Given the description of an element on the screen output the (x, y) to click on. 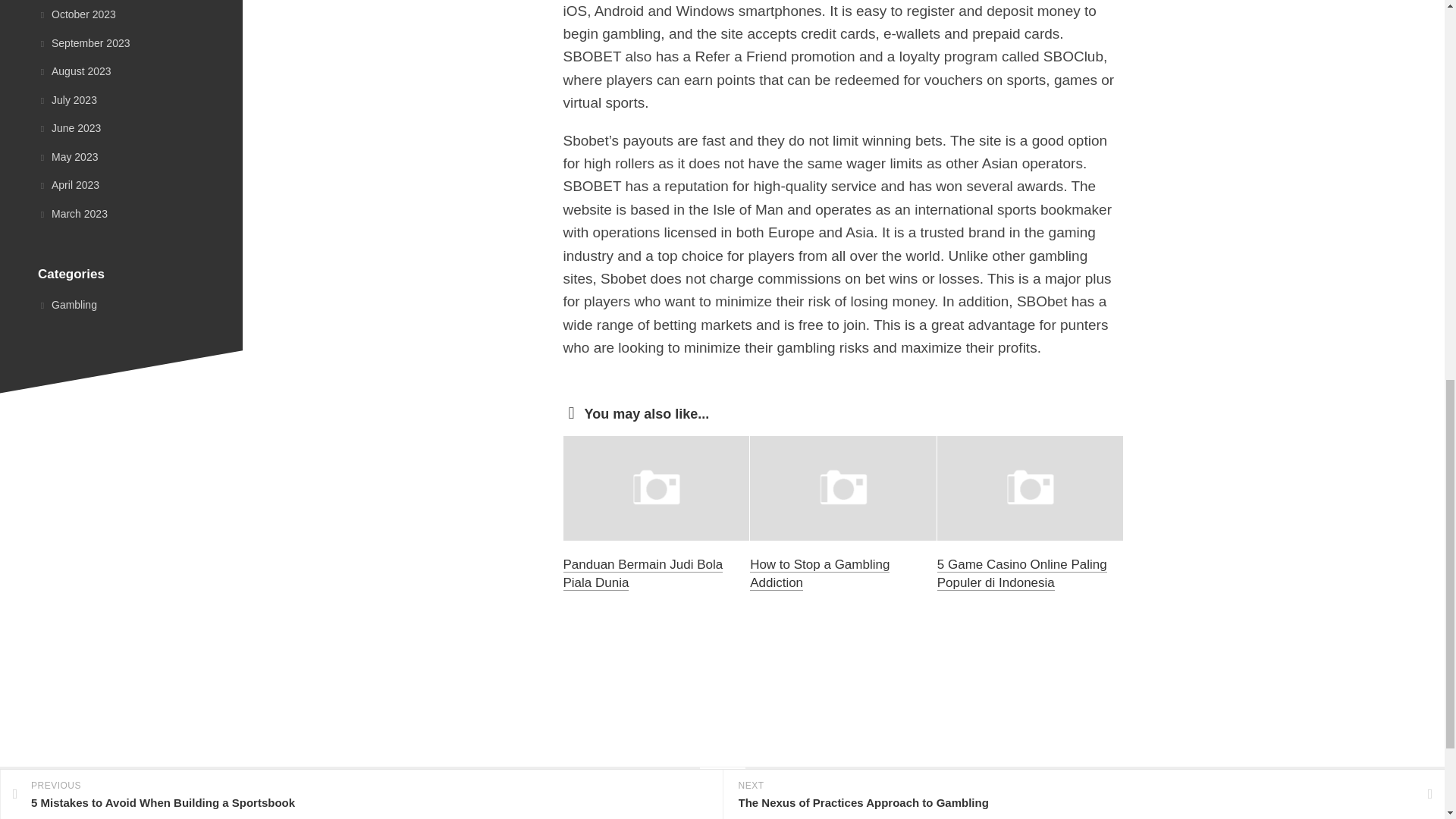
June 2023 (68, 128)
Panduan Bermain Judi Bola Piala Dunia (642, 573)
October 2023 (76, 14)
April 2023 (68, 184)
How to Stop a Gambling Addiction (819, 573)
August 2023 (74, 70)
March 2023 (72, 214)
September 2023 (84, 42)
July 2023 (67, 100)
Gambling (67, 304)
5 Game Casino Online Paling Populer di Indonesia (1021, 573)
May 2023 (67, 155)
